Given the description of an element on the screen output the (x, y) to click on. 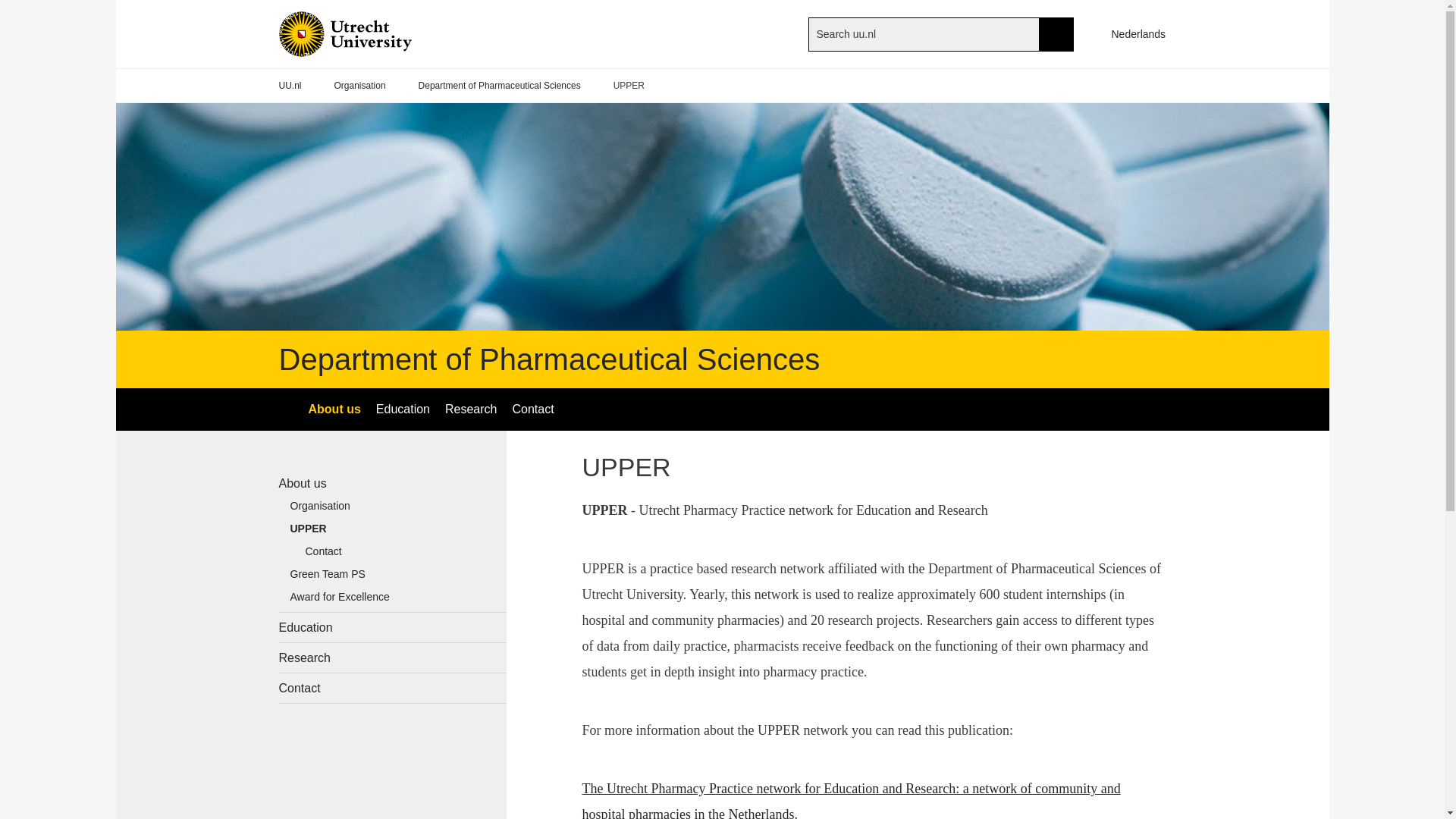
Award for Excellence (392, 599)
Organisation (392, 508)
Research (470, 409)
Nederlands (1131, 33)
About us (392, 482)
Education (403, 409)
SEARCH (1056, 33)
Organisation (359, 85)
Green Team PS (392, 577)
UPPER (392, 531)
Contact (400, 554)
About us (333, 409)
Research (392, 657)
